Given the description of an element on the screen output the (x, y) to click on. 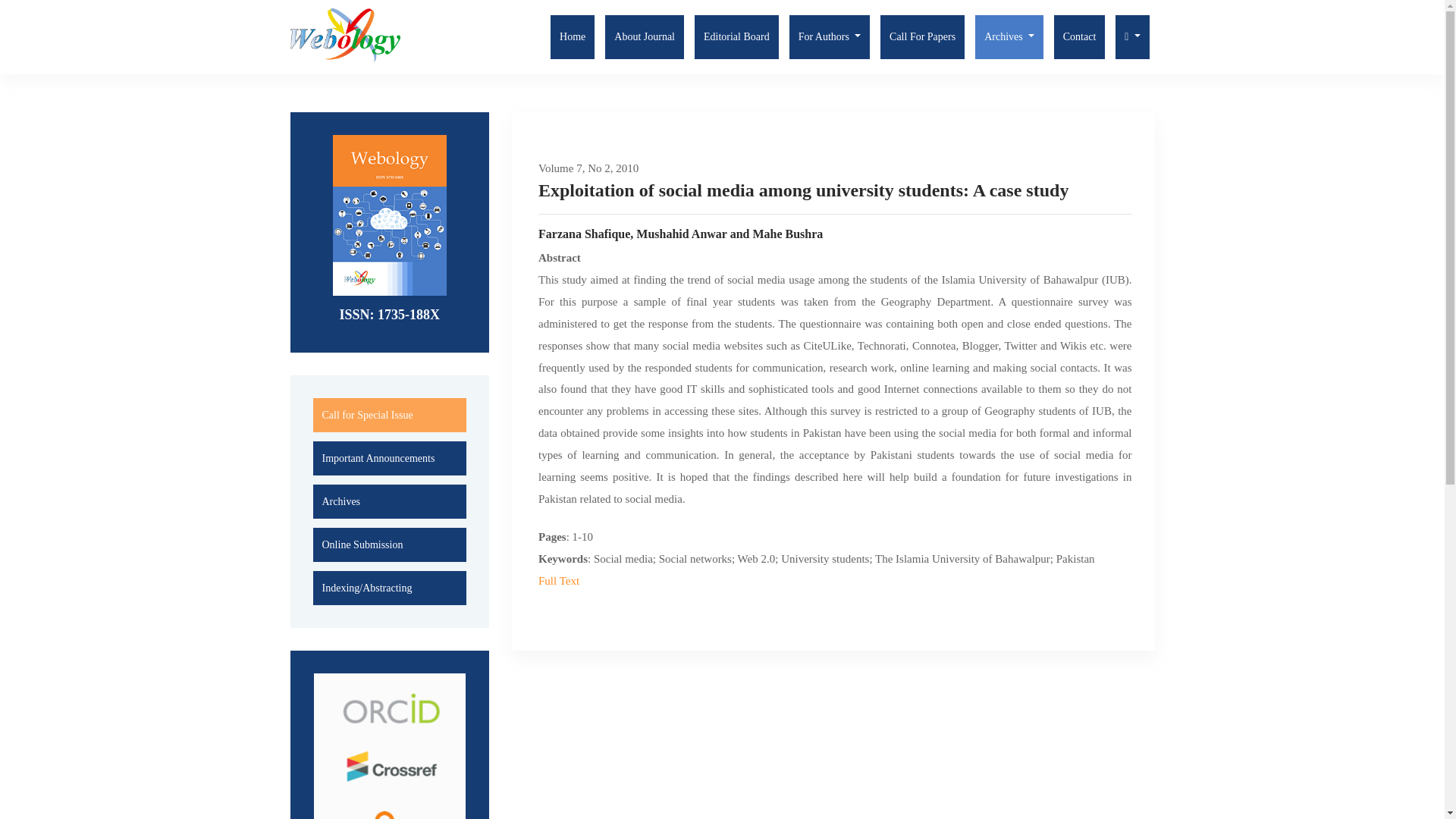
Farzana Shafique, Mushahid Anwar and Mahe Bushra (835, 233)
Contact (1079, 36)
Online Submission (362, 544)
Call for Special Issue (366, 415)
For Authors (829, 36)
Full Text (558, 580)
Archives (340, 501)
About Journal (644, 36)
Home (572, 36)
Archives (1009, 36)
Important Announcements (377, 458)
Call For Papers (921, 36)
Editorial Board (736, 36)
